Given the description of an element on the screen output the (x, y) to click on. 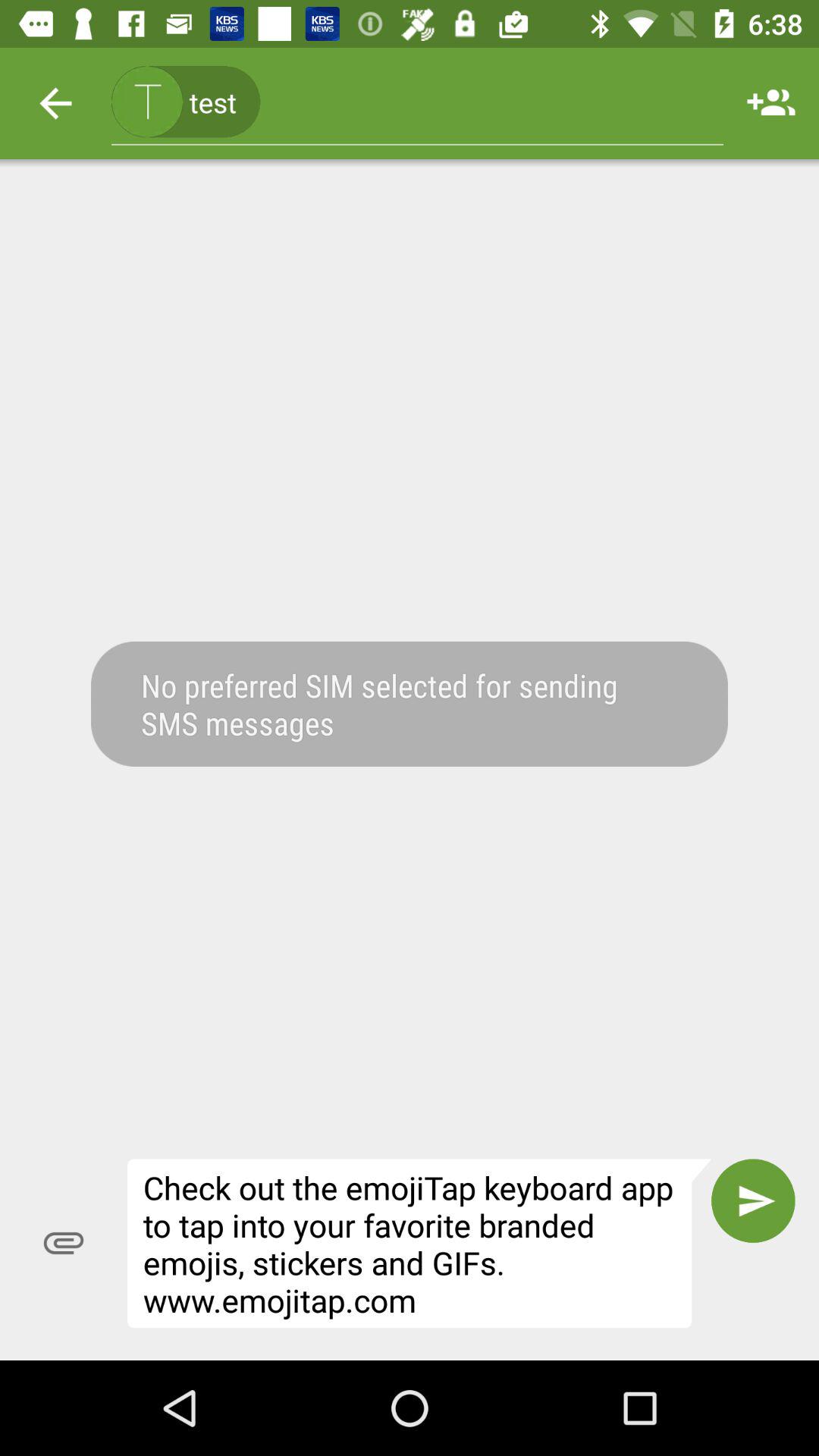
open icon to the right of check out the (753, 1200)
